Given the description of an element on the screen output the (x, y) to click on. 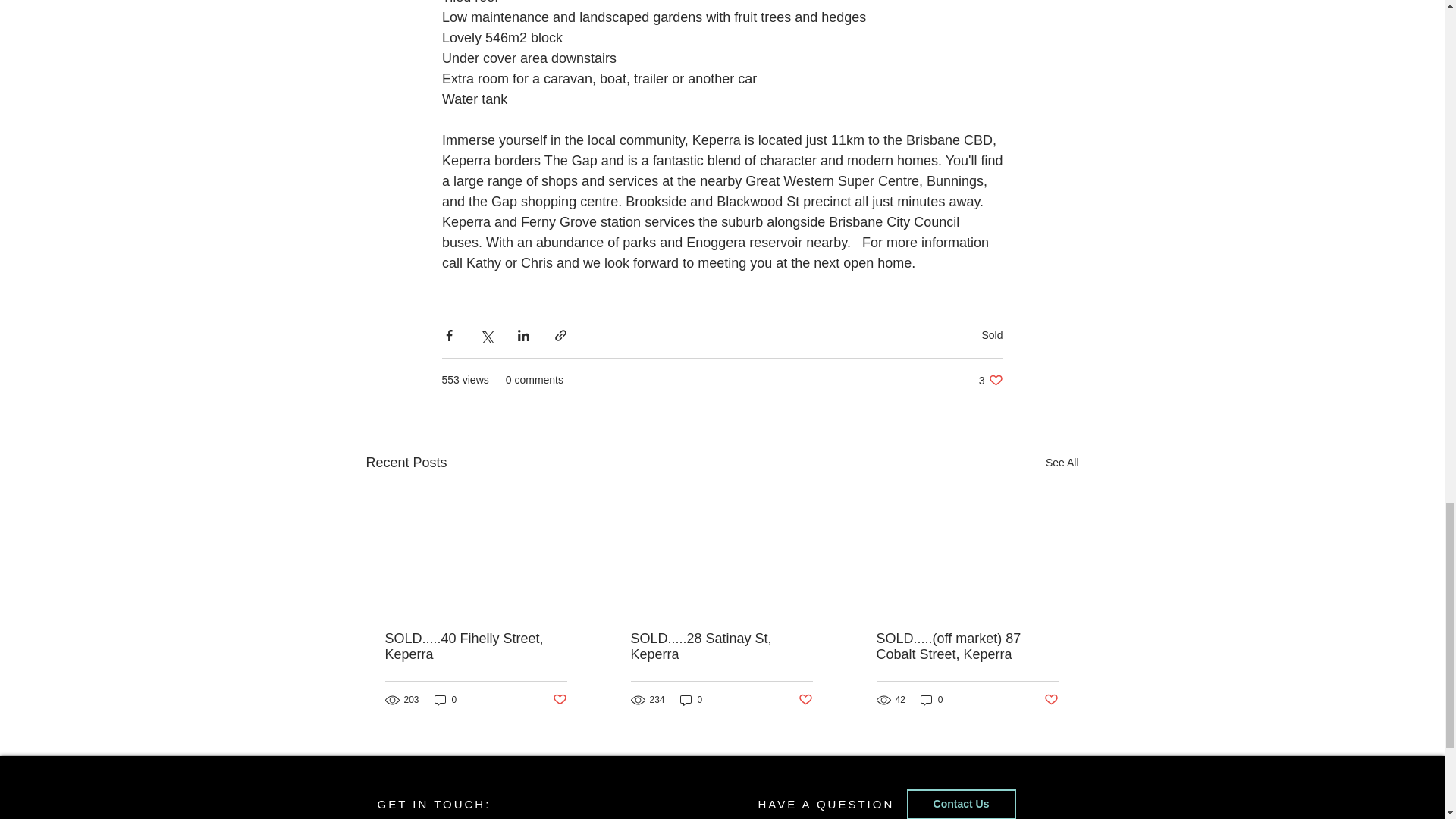
0 (691, 699)
0 (931, 699)
Post not marked as liked (558, 699)
SOLD.....28 Satinay St, Keperra (721, 646)
Sold (992, 335)
See All (1061, 463)
Contact Us (961, 804)
SOLD.....40 Fihelly Street, Keperra (990, 380)
0 (476, 646)
Post not marked as liked (445, 699)
Post not marked as liked (804, 699)
